Given the description of an element on the screen output the (x, y) to click on. 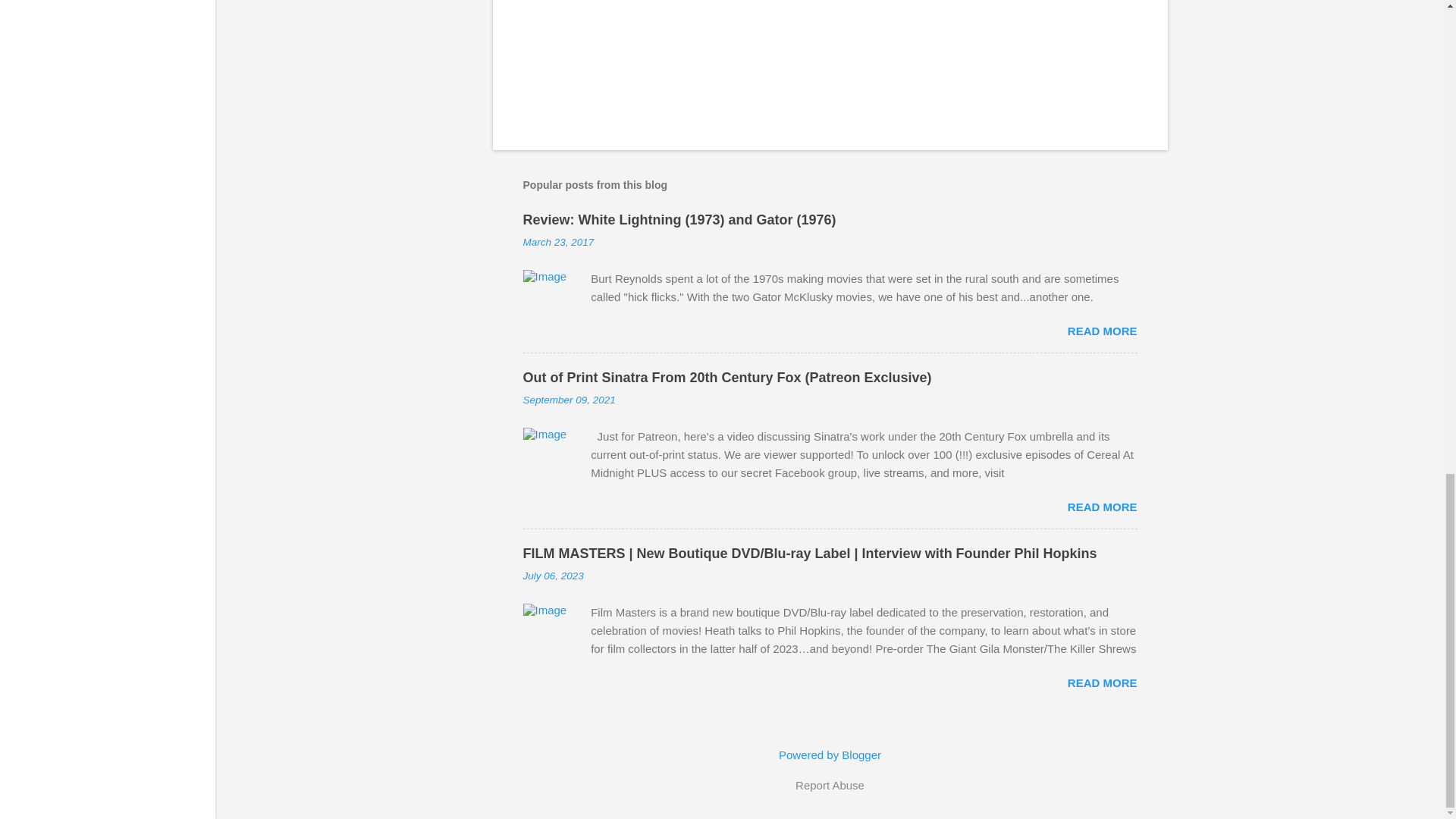
September 09, 2021 (568, 399)
March 23, 2017 (558, 242)
July 06, 2023 (552, 575)
READ MORE (1102, 506)
READ MORE (1102, 682)
READ MORE (1102, 330)
Powered by Blogger (829, 754)
permanent link (558, 242)
